Given the description of an element on the screen output the (x, y) to click on. 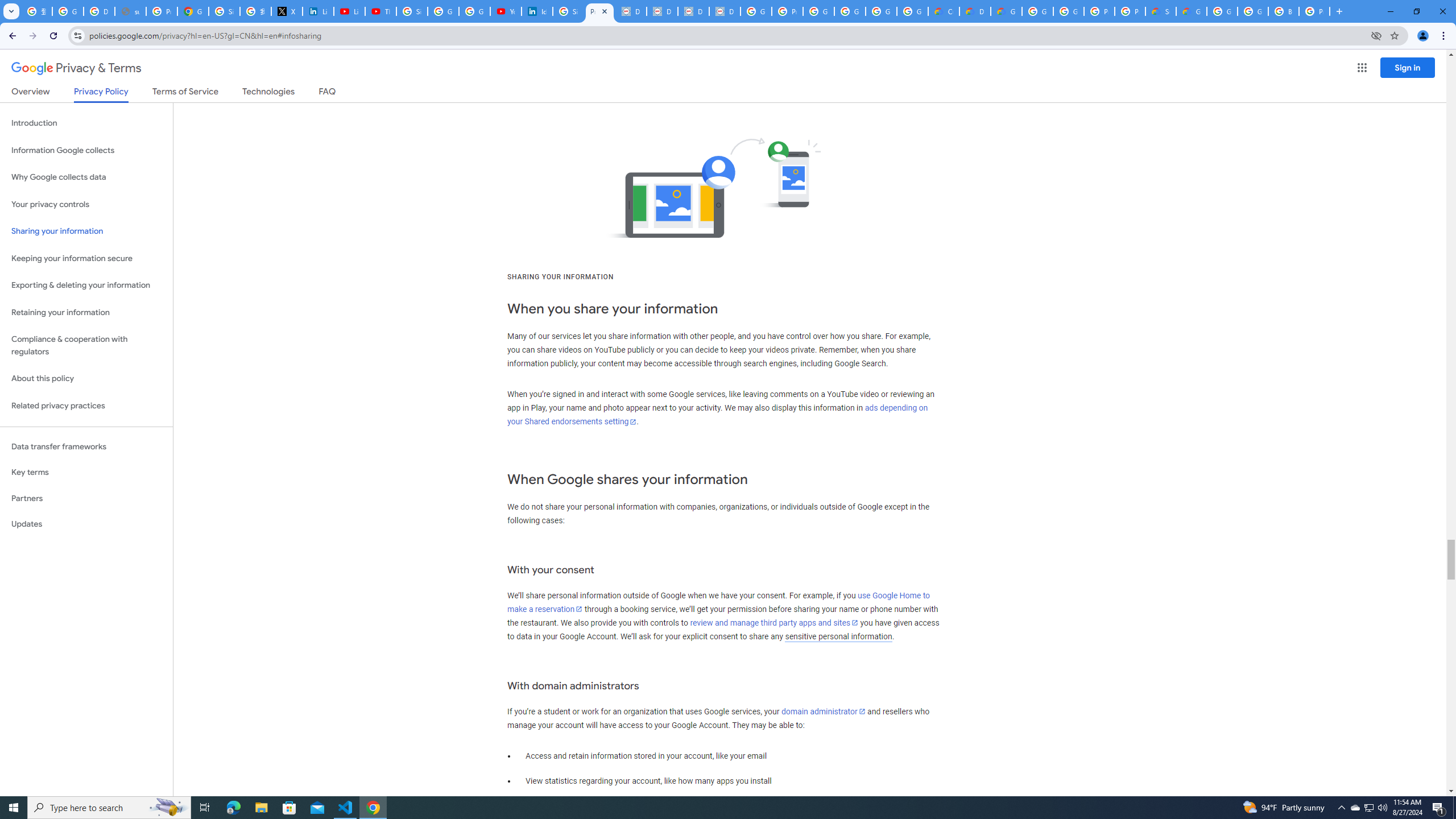
Google Cloud Platform (1222, 11)
Support Hub | Google Cloud (1160, 11)
LinkedIn - YouTube (349, 11)
Data Privacy Framework (724, 11)
Google Workspace - Specific Terms (881, 11)
Sign in - Google Accounts (411, 11)
use Google Home to make a reservation (718, 602)
Data Privacy Framework (631, 11)
